Given the description of an element on the screen output the (x, y) to click on. 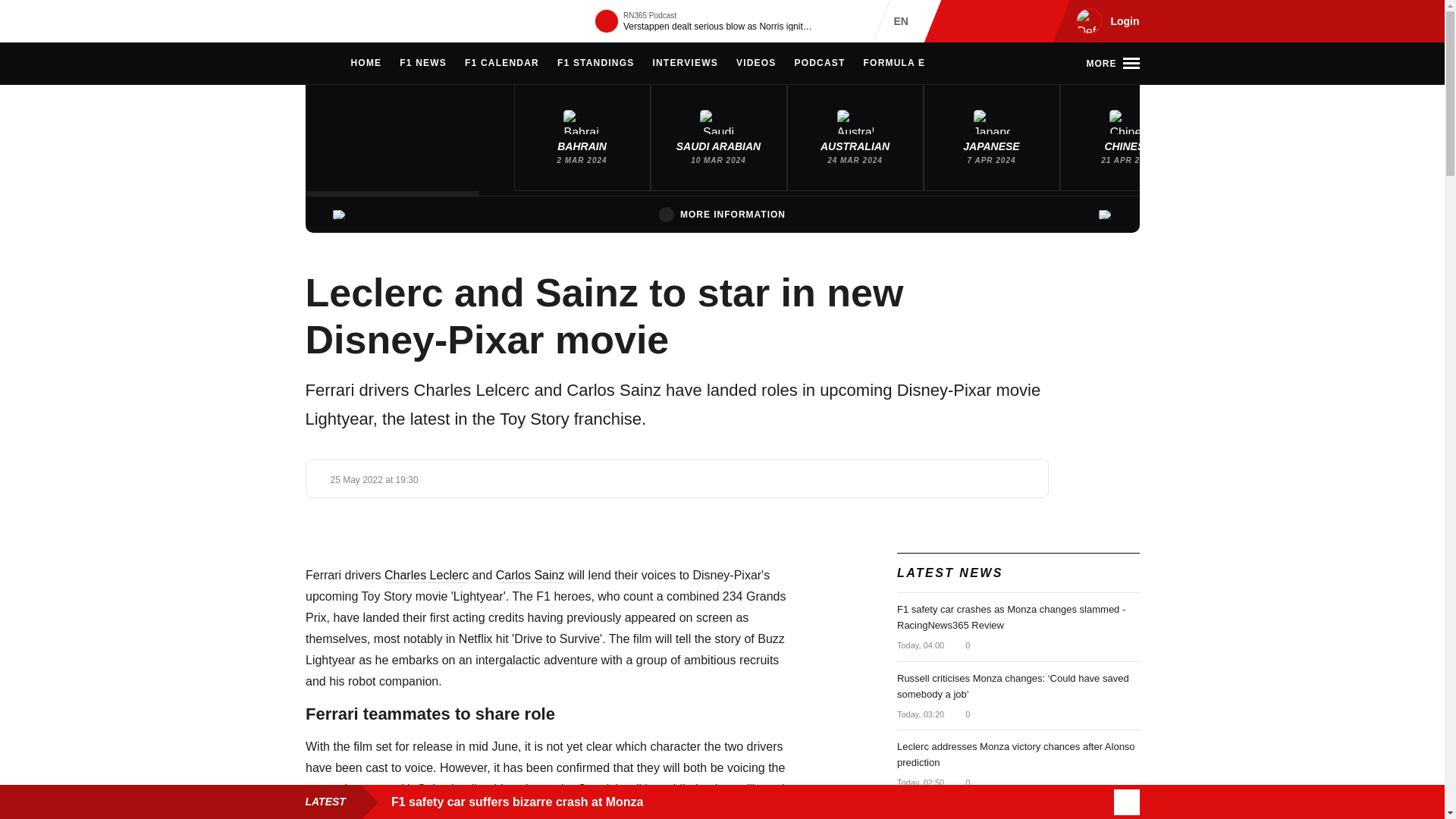
RacingNews365 on Facebook (986, 21)
INTERVIEWS (684, 63)
RacingNews365 on X (1010, 21)
FORMULA E (894, 63)
PODCAST (818, 63)
Wednesday 25 May 2022 at 19:30 (374, 480)
F1 STANDINGS (595, 63)
MORE INFORMATION (722, 214)
RacingNews365 on Instagram (962, 21)
VIDEOS (756, 63)
